Given the description of an element on the screen output the (x, y) to click on. 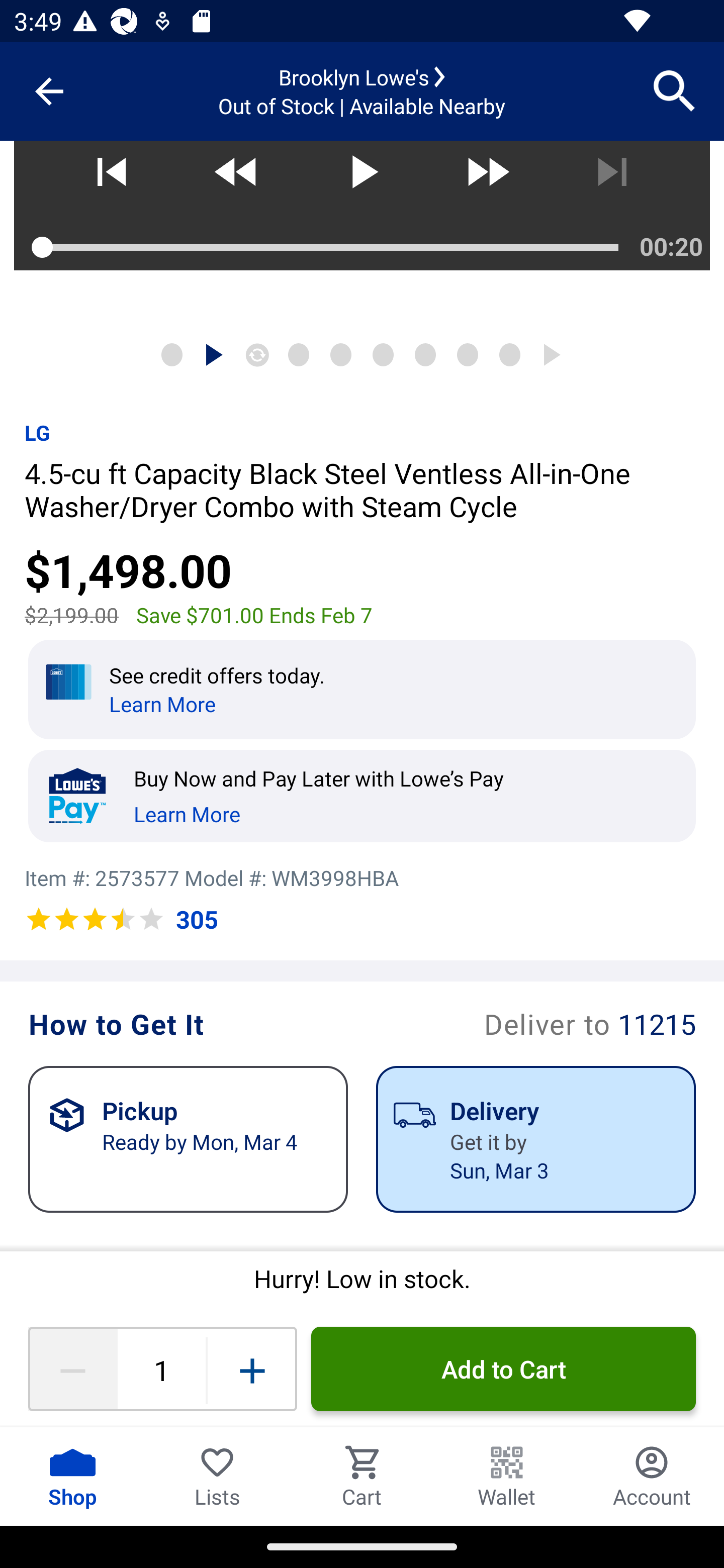
Navigate up (49, 91)
Search for products (674, 90)
Brooklyn Lowe's  Out of Stock | Available Nearby (361, 91)
Previous (110, 179)
Rewind (236, 179)
Play (361, 179)
Fast forward (486, 179)
Next (611, 179)
See credit offers today. Learn More (361, 688)
Learn More (162, 703)
Buy Now and Pay Later with Lowe’s Pay Learn More (372, 795)
Learn More (186, 810)
7.0 305 3.50 Ratings out of305 (120, 919)
Product Image Pickup Ready by Mon, Mar 4 (188, 1139)
Product Image Delivery Get it by Sun, Mar 3 (535, 1139)
Decrease quantity (72, 1368)
1 (161, 1368)
Increase quantity (251, 1368)
Add to Cart (503, 1368)
Lists (216, 1475)
Cart (361, 1475)
Wallet (506, 1475)
Account (651, 1475)
